Given the description of an element on the screen output the (x, y) to click on. 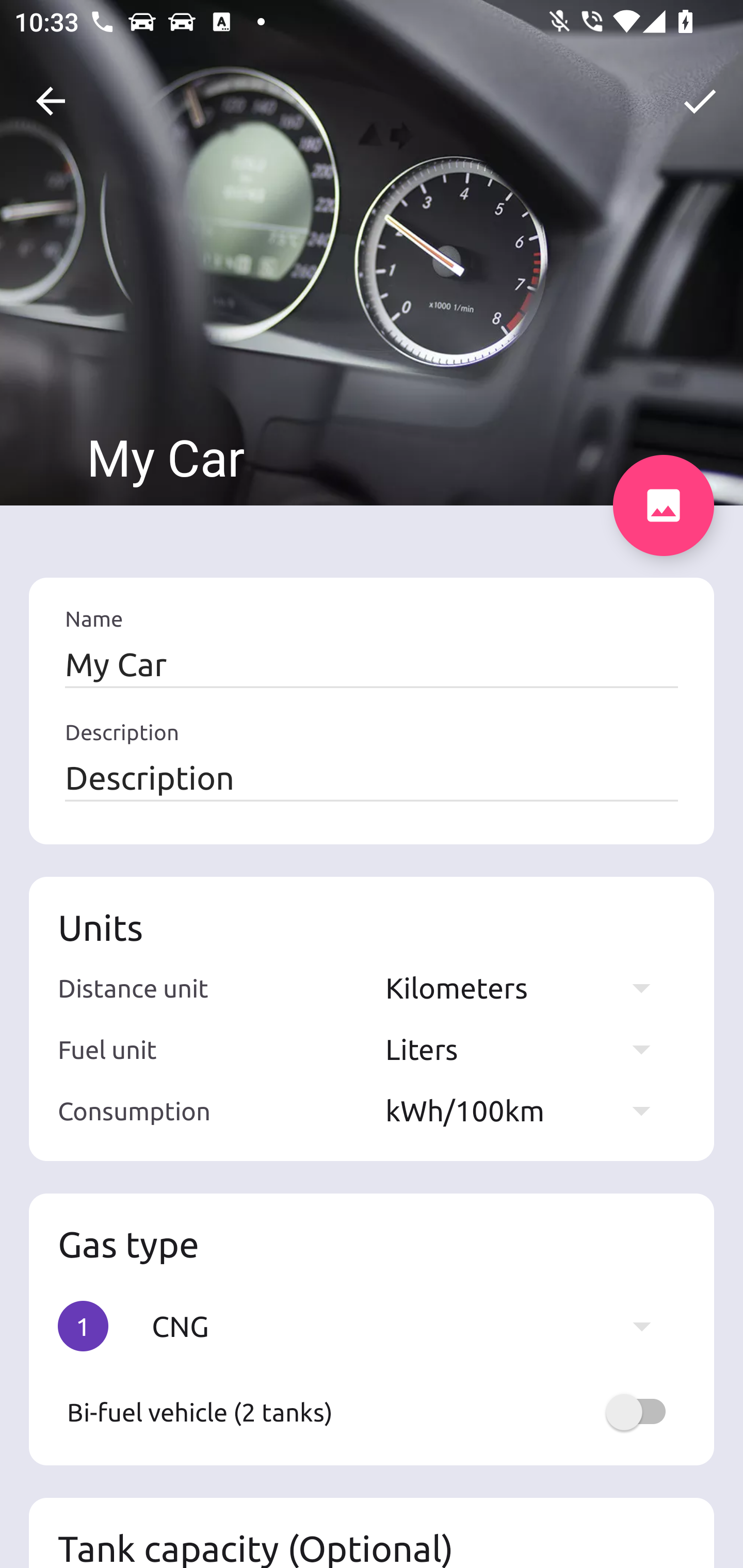
Navigate up (50, 101)
OK (699, 101)
My Car (371, 664)
Description (371, 777)
Kilometers (527, 987)
Liters (527, 1048)
kWh/100km (527, 1110)
CNG (411, 1325)
Bi-fuel vehicle (2 tanks) (371, 1411)
